Given the description of an element on the screen output the (x, y) to click on. 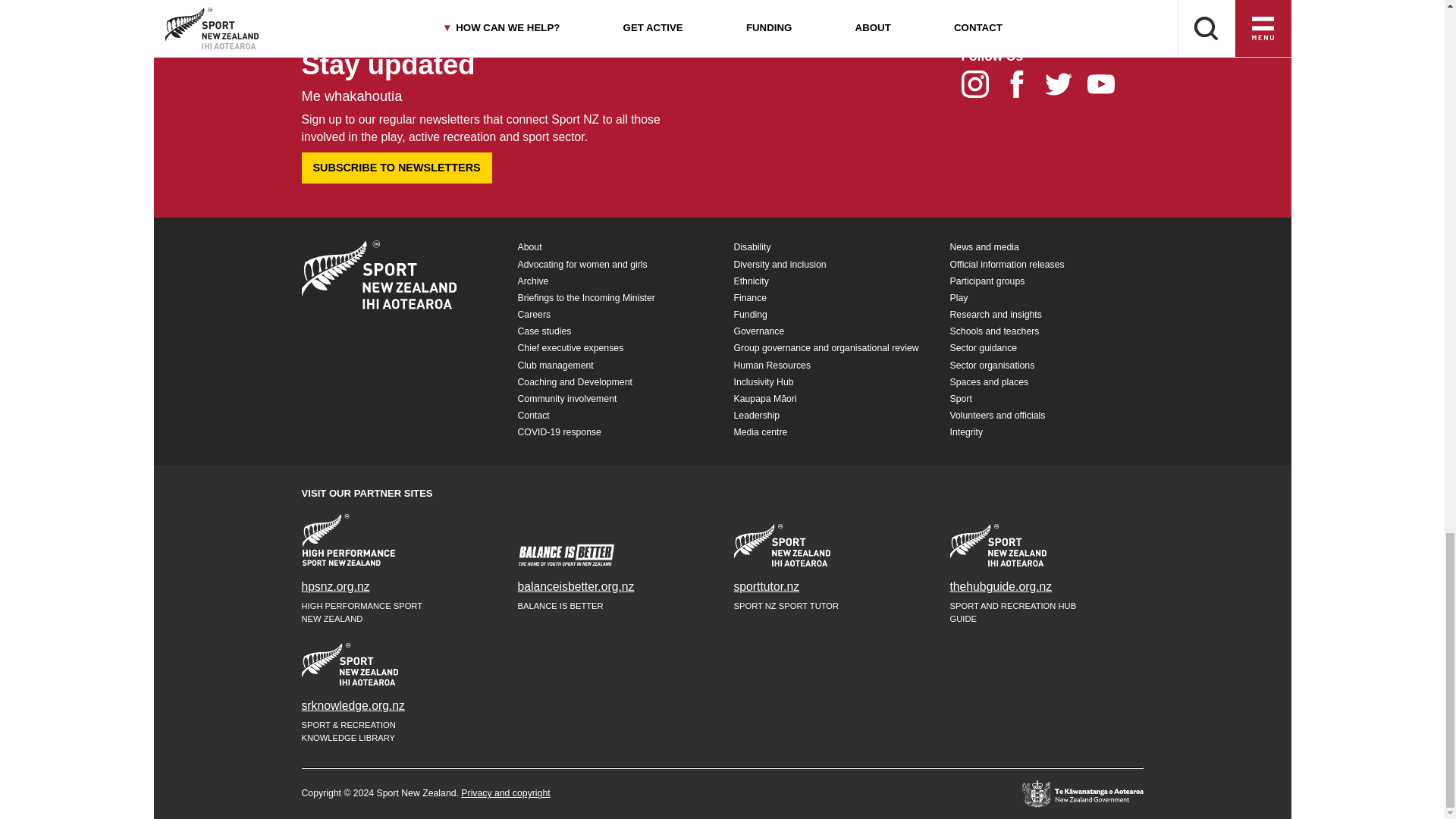
Instagram (981, 88)
Twitter (1065, 88)
Facebook (1024, 88)
